Given the description of an element on the screen output the (x, y) to click on. 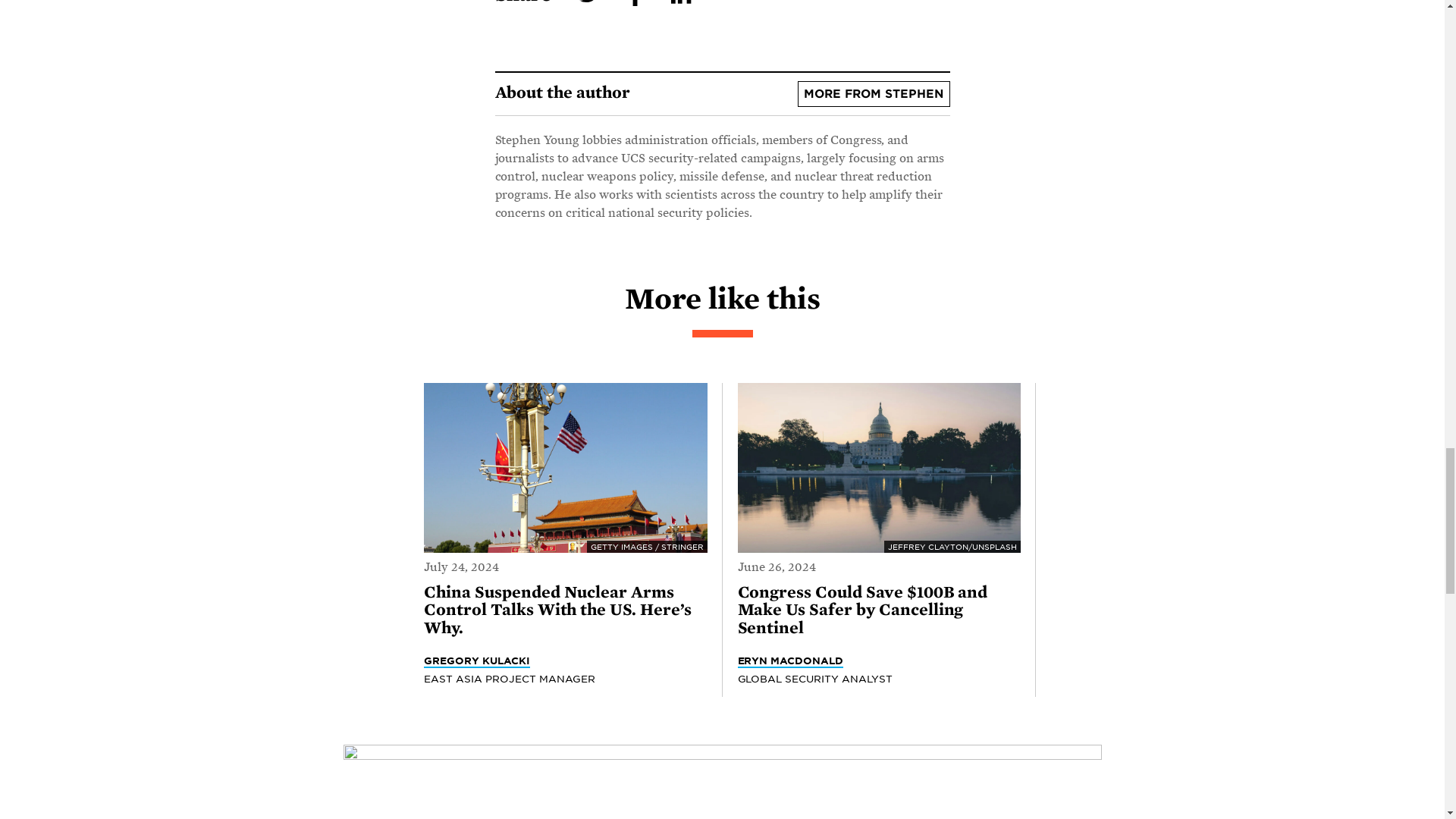
ERYN MACDONALD (789, 661)
GREGORY KULACKI (476, 661)
MORE FROM STEPHEN (873, 94)
